Given the description of an element on the screen output the (x, y) to click on. 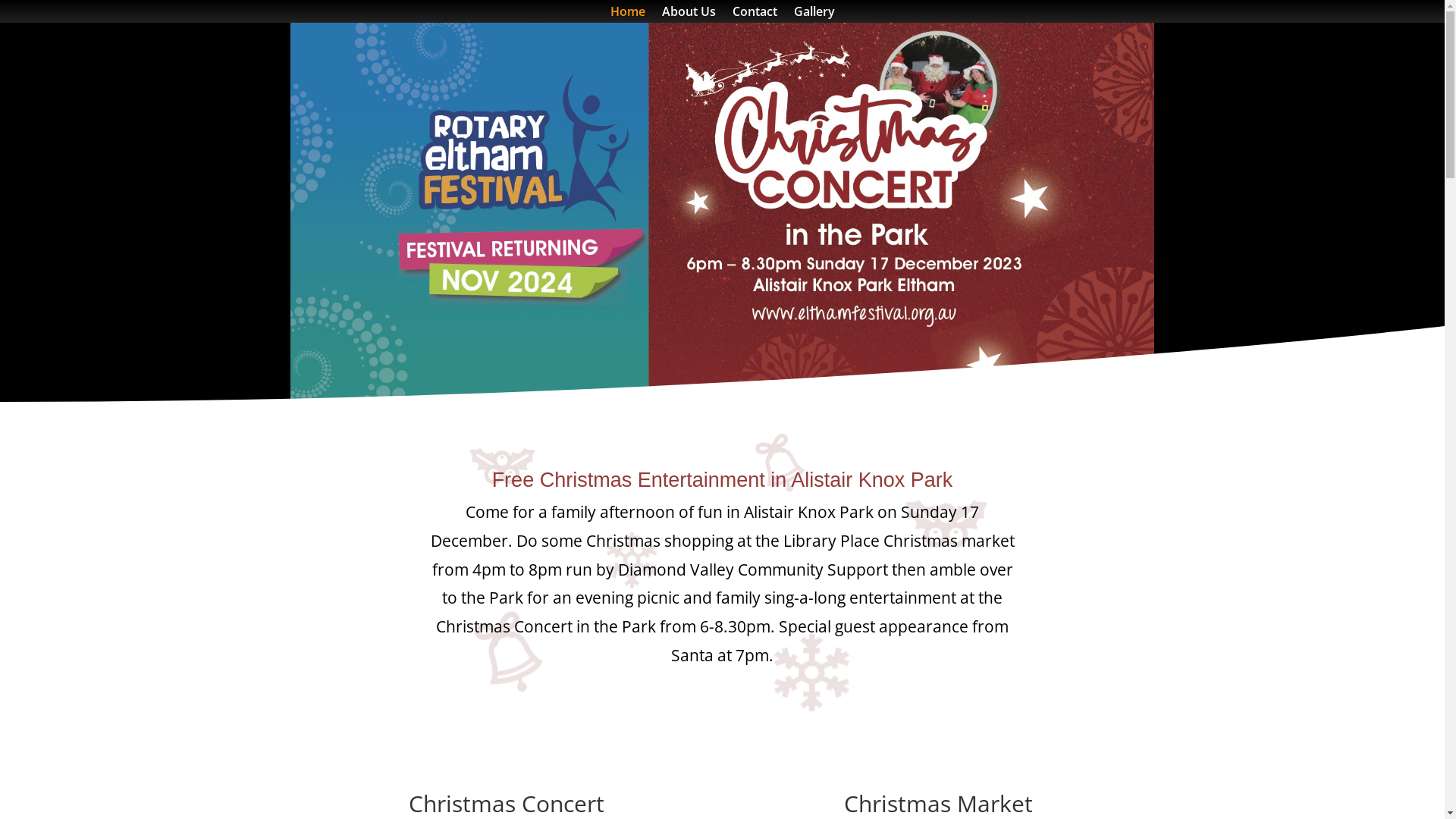
Contact Element type: text (754, 14)
About Us Element type: text (688, 14)
Home Element type: text (626, 14)
Gallery Element type: text (813, 14)
